Given the description of an element on the screen output the (x, y) to click on. 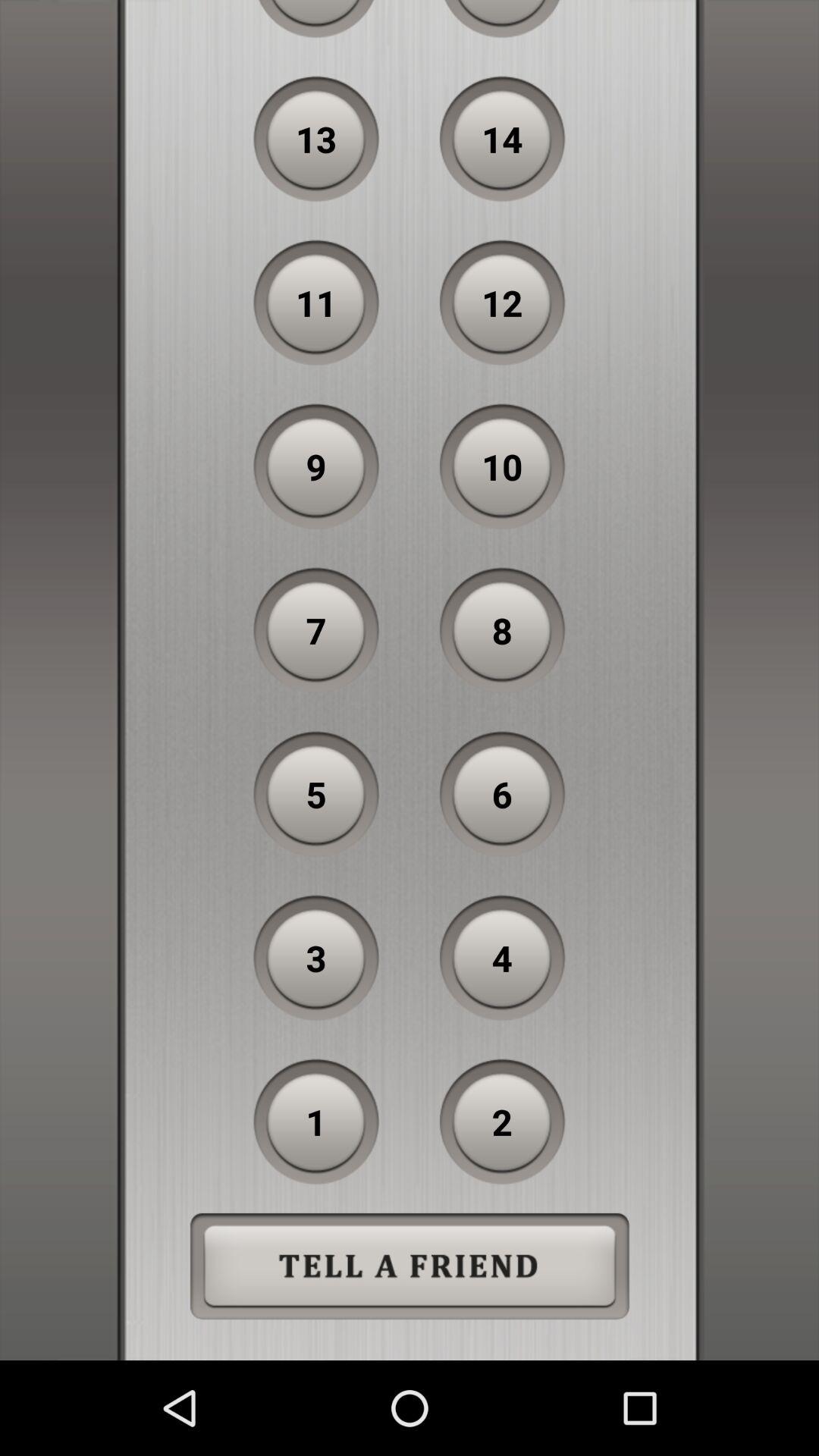
scroll to the 7 icon (316, 630)
